Given the description of an element on the screen output the (x, y) to click on. 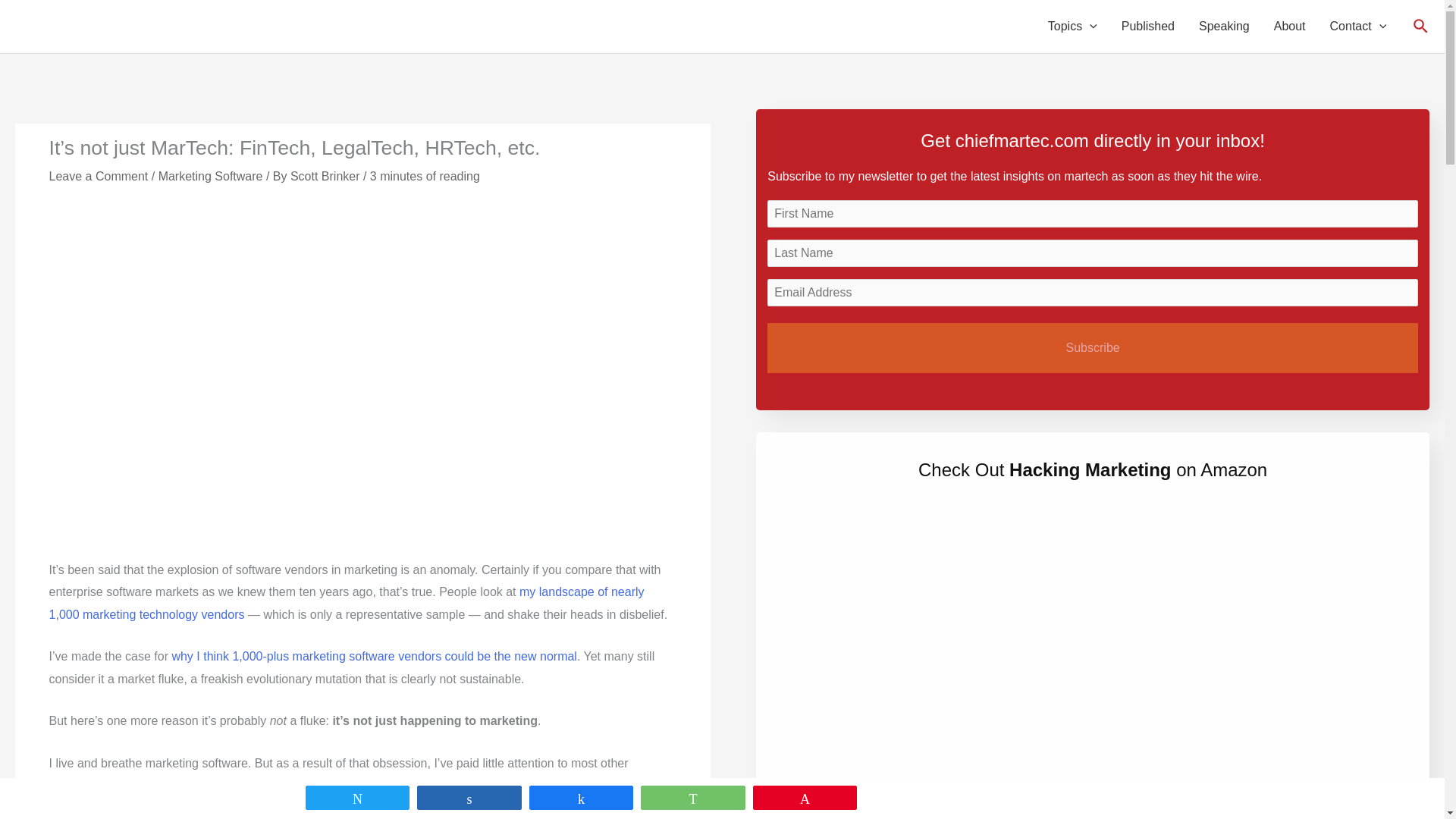
Speaking (1224, 26)
Contact (1358, 26)
Topics (1072, 26)
About (1289, 26)
Published (1147, 26)
View all posts by Scott Brinker (325, 175)
Subscribe (1092, 347)
